Given the description of an element on the screen output the (x, y) to click on. 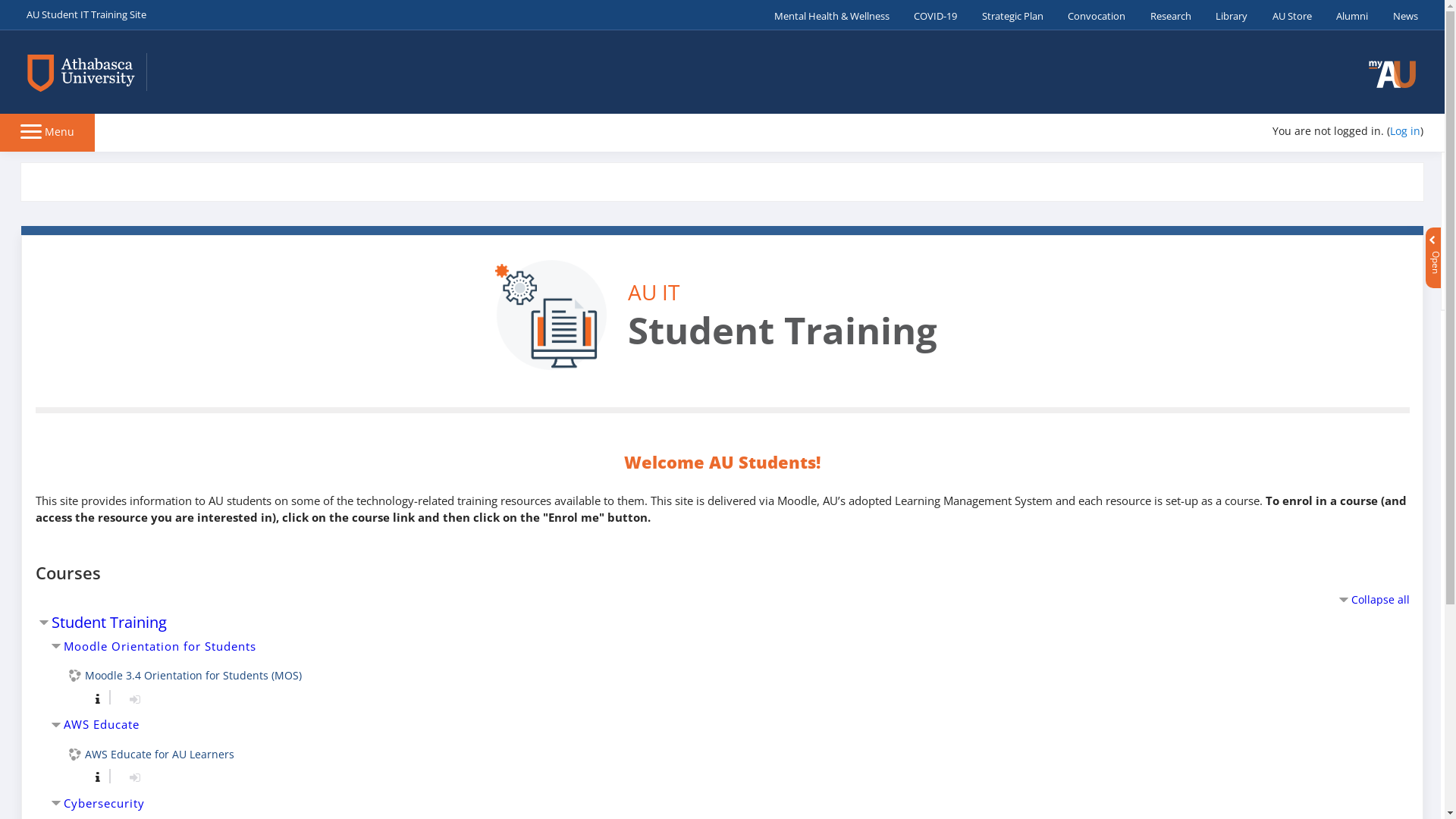
Collapse all Element type: text (1372, 599)
AWS Educate for AU Learners Element type: text (150, 754)
Self enrolment Element type: hover (134, 777)
Research Element type: text (1164, 15)
Library Element type: text (1225, 15)
Log in Element type: text (1405, 130)
Summary Element type: hover (97, 699)
Summary Element type: hover (94, 775)
Summary Element type: hover (97, 777)
Self enrolment Element type: hover (134, 699)
Alumni Element type: text (1346, 15)
Side panel
Menu Element type: text (47, 130)
COVID-19 Element type: text (929, 15)
News Element type: text (1399, 15)
Mental Health & Wellness Element type: text (824, 15)
Moodle 3.4 Orientation for Students (MOS) Element type: text (184, 675)
Moodle Orientation for Students Element type: text (159, 646)
Skip Welcome! Element type: text (1440, 150)
Summary Element type: hover (94, 697)
myAU Login Element type: text (1392, 73)
Strategic Plan Element type: text (1005, 15)
AWS Educate Element type: text (101, 724)
Cybersecurity Element type: text (103, 803)
Student Training Element type: text (108, 621)
AU Store Element type: text (1285, 15)
Convocation Element type: text (1090, 15)
